Given the description of an element on the screen output the (x, y) to click on. 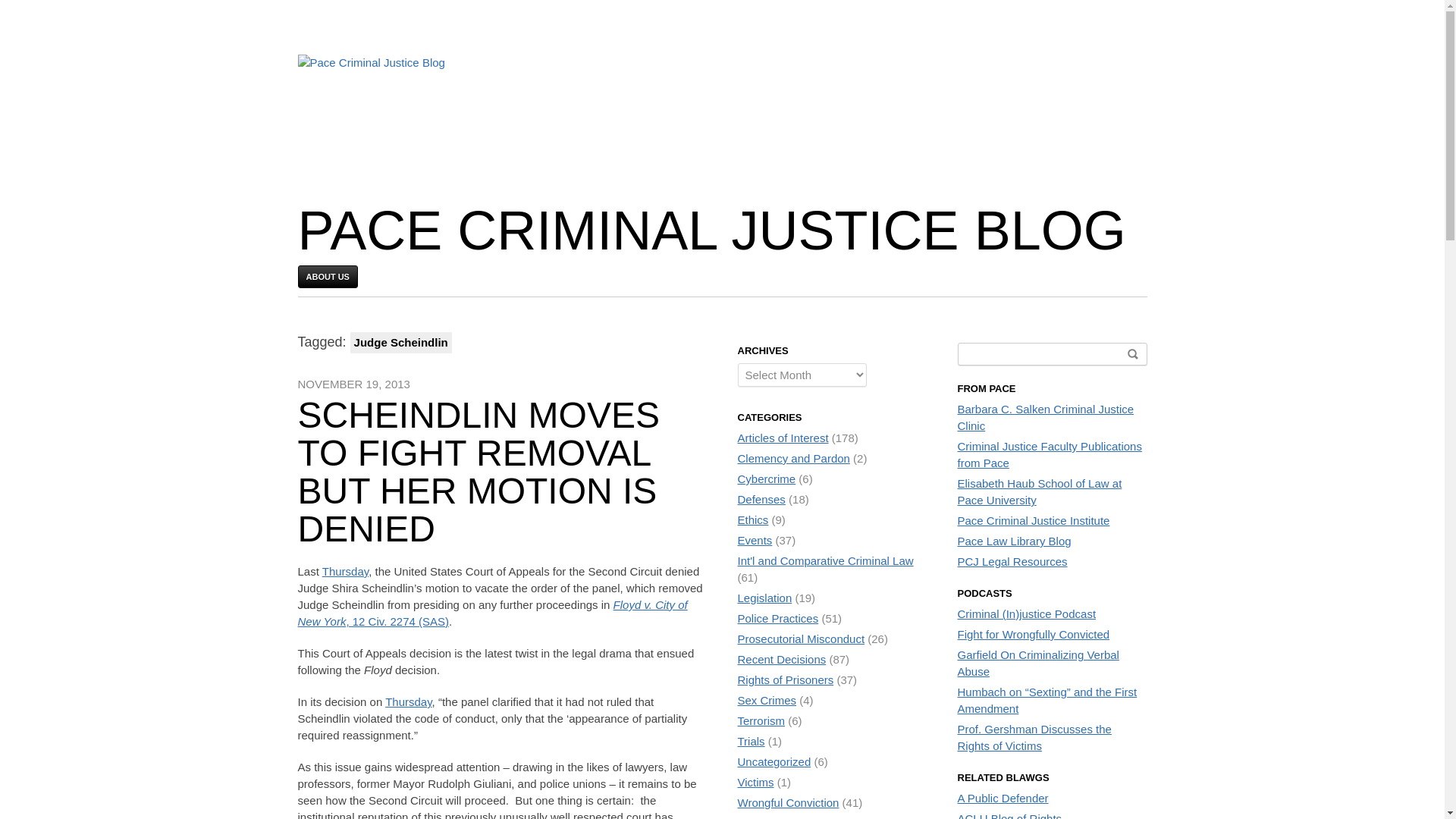
ABOUT US (326, 276)
PACE CRIMINAL JUSTICE BLOG (711, 230)
Pace Criminal Justice Blog (711, 230)
Thursday (407, 701)
SCHEINDLIN MOVES TO FIGHT REMOVAL BUT HER MOTION IS DENIED (478, 471)
Thursday (344, 571)
